Given the description of an element on the screen output the (x, y) to click on. 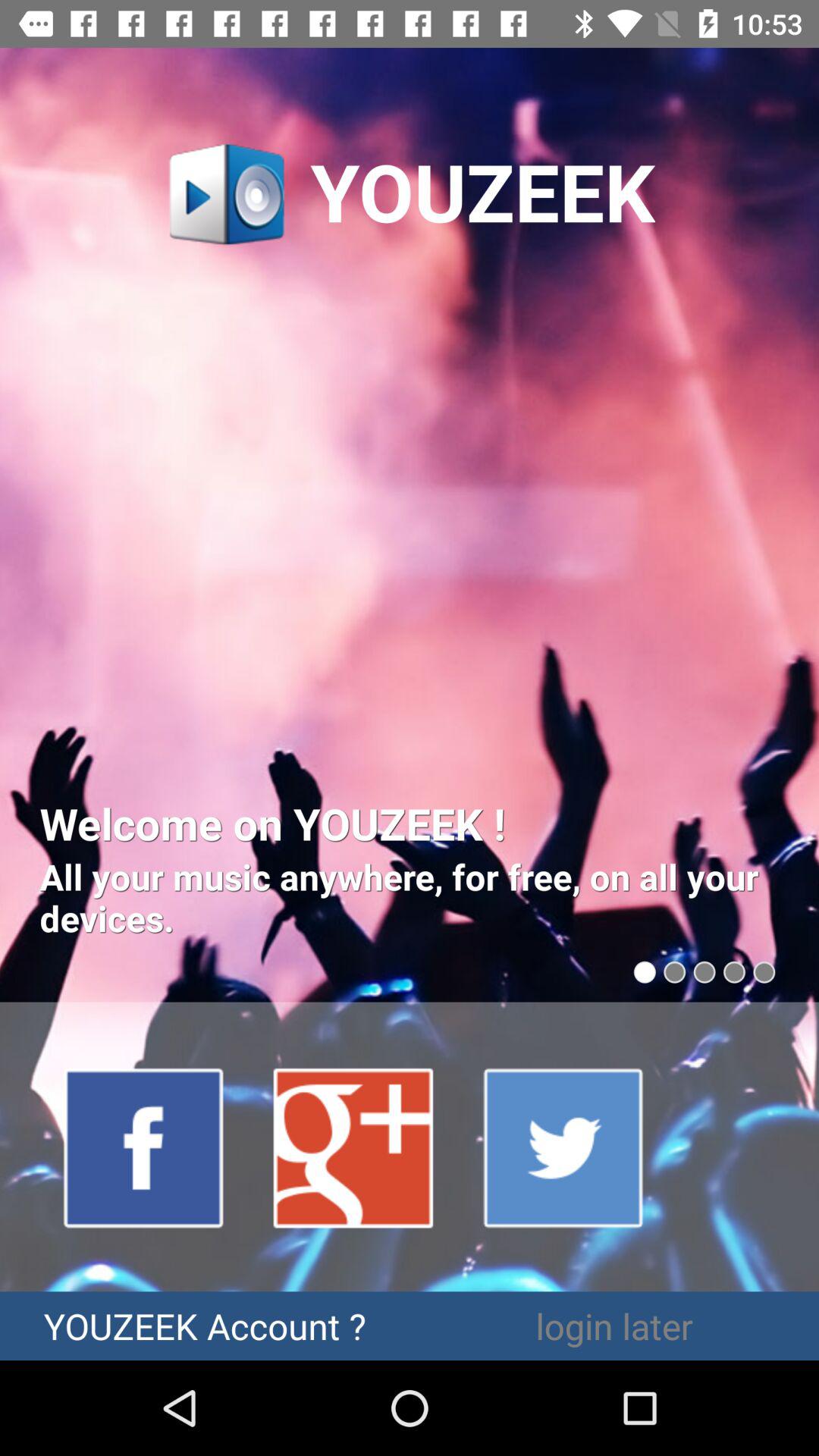
click the icon above the youzeek account ? icon (354, 1146)
